Given the description of an element on the screen output the (x, y) to click on. 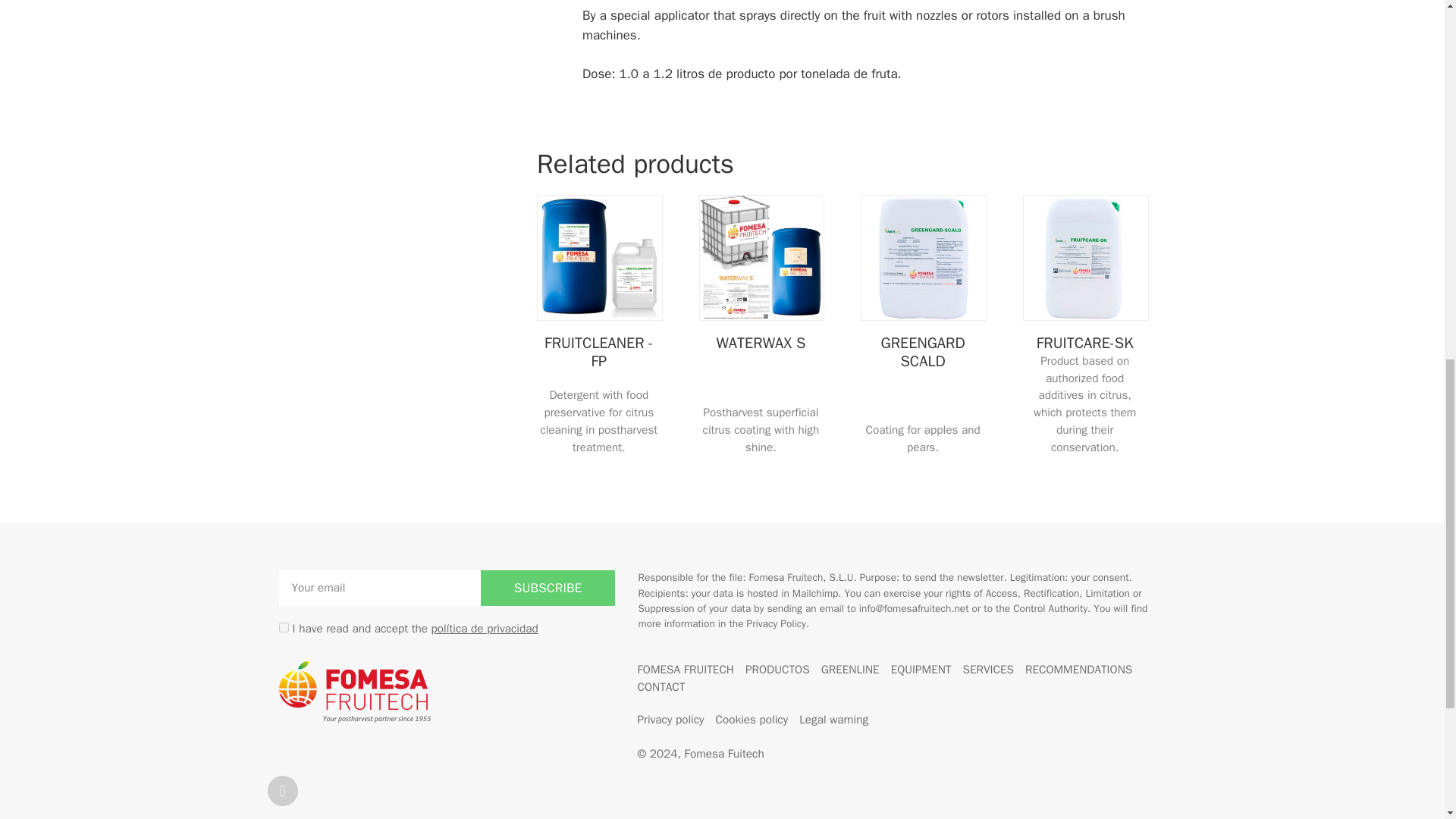
on (283, 627)
